Given the description of an element on the screen output the (x, y) to click on. 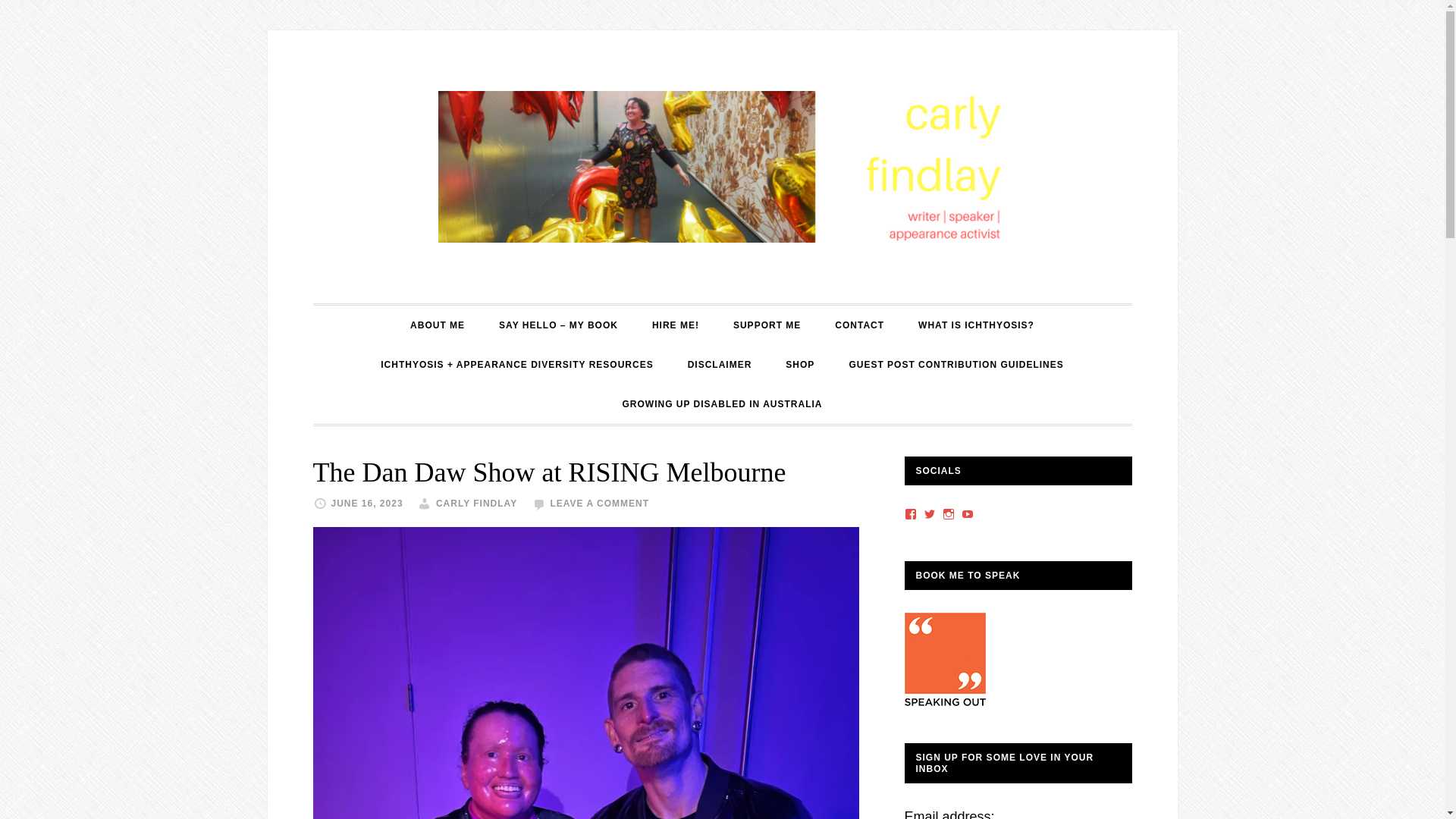
HIRE ME! (675, 324)
SUPPORT ME (766, 324)
CARLY FINDLAY (475, 502)
ABOUT ME (437, 324)
SHOP (799, 364)
CONTACT (859, 324)
CARLY FINDLAY (721, 166)
LEAVE A COMMENT (599, 502)
DISCLAIMER (719, 364)
GUEST POST CONTRIBUTION GUIDELINES (955, 364)
GROWING UP DISABLED IN AUSTRALIA (722, 404)
WHAT IS ICHTHYOSIS? (975, 324)
